Given the description of an element on the screen output the (x, y) to click on. 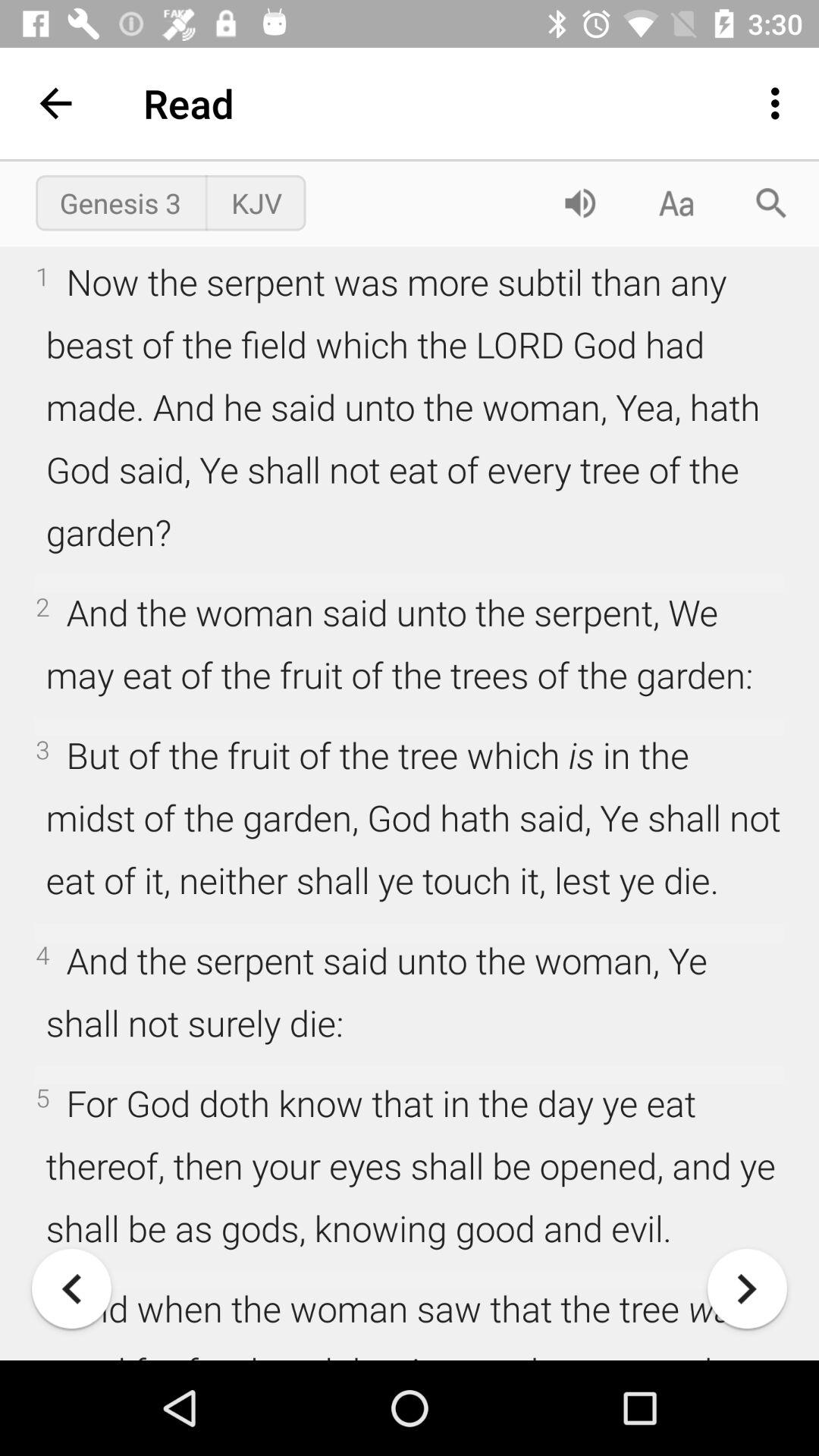
choose the icon at the bottom left corner (71, 1288)
